Given the description of an element on the screen output the (x, y) to click on. 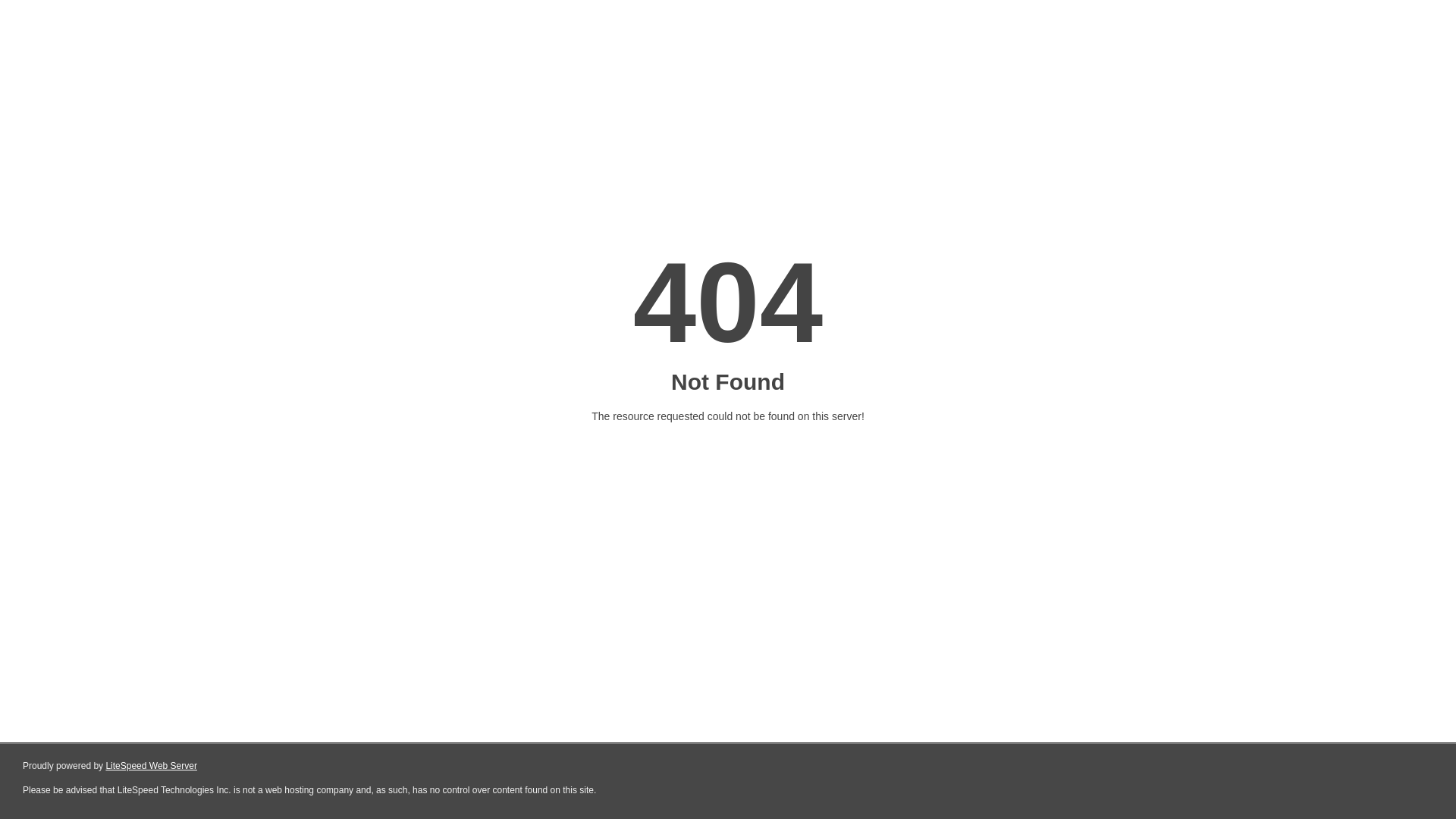
LiteSpeed Web Server Element type: text (151, 765)
